Given the description of an element on the screen output the (x, y) to click on. 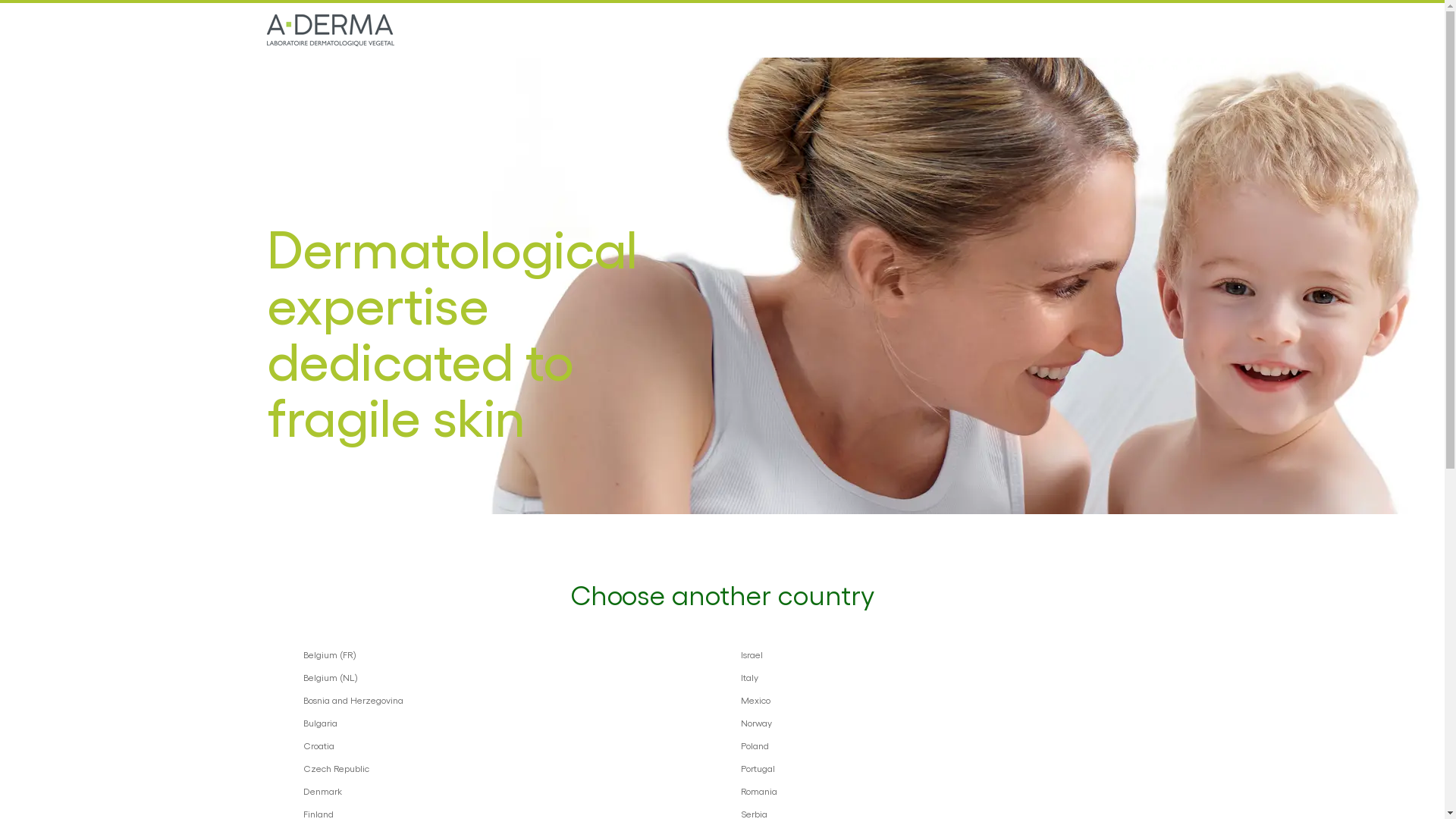
Denmark Element type: text (503, 790)
Bulgaria Element type: text (503, 722)
Portugal Element type: text (940, 767)
Israel Element type: text (940, 654)
Croatia Element type: text (503, 745)
Mexico Element type: text (940, 699)
Belgium (NL) Element type: text (503, 676)
Romania Element type: text (940, 790)
Norway Element type: text (940, 722)
Poland Element type: text (940, 745)
Belgium (FR) Element type: text (503, 654)
Italy Element type: text (940, 676)
Bosnia and Herzegovina Element type: text (503, 699)
Czech Republic Element type: text (503, 767)
